Given the description of an element on the screen output the (x, y) to click on. 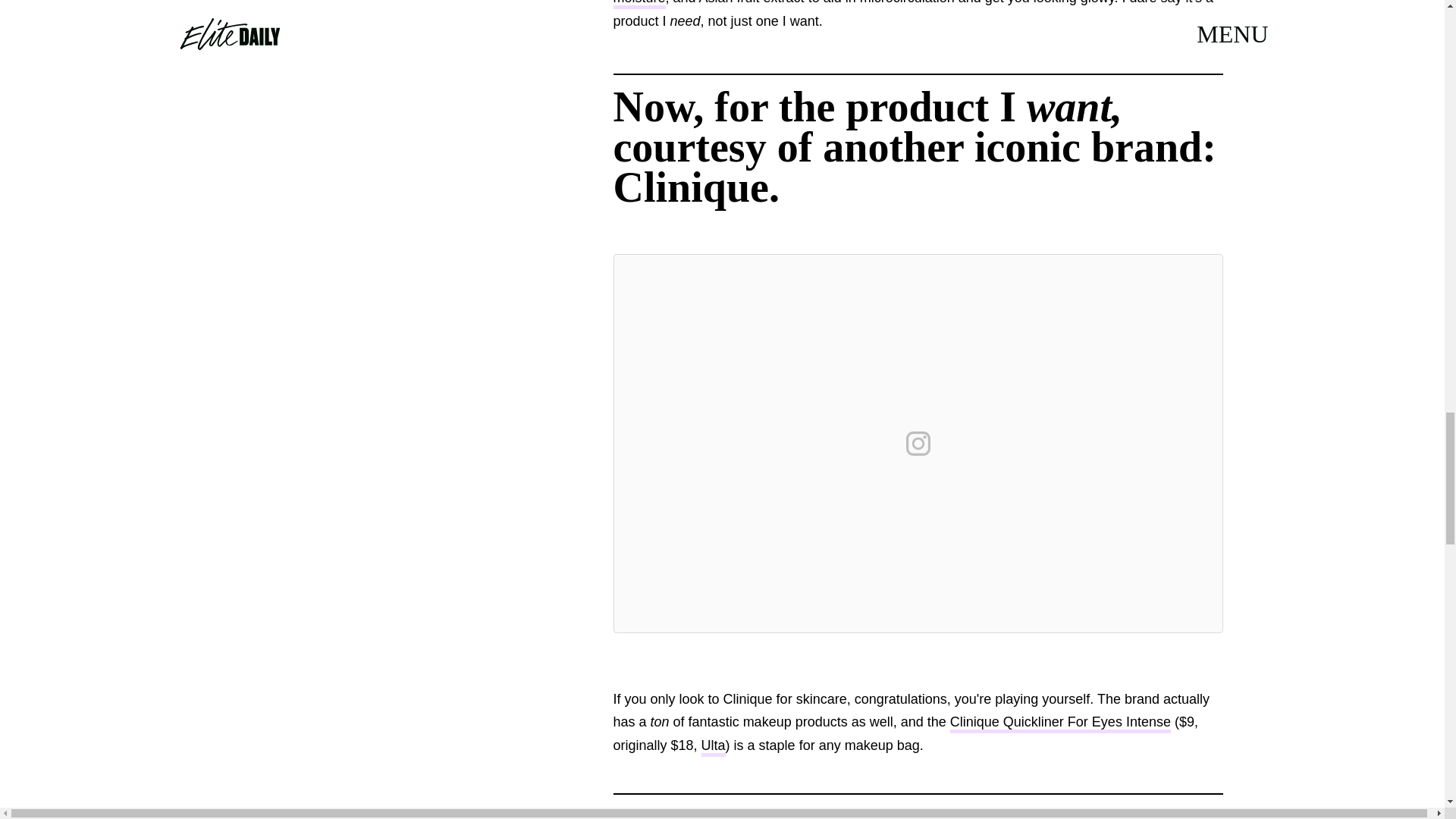
Clinique Quickliner For Eyes Intense (1060, 723)
hyaluronate to add moisture (899, 4)
View on Instagram (917, 443)
Ulta (713, 746)
